Given the description of an element on the screen output the (x, y) to click on. 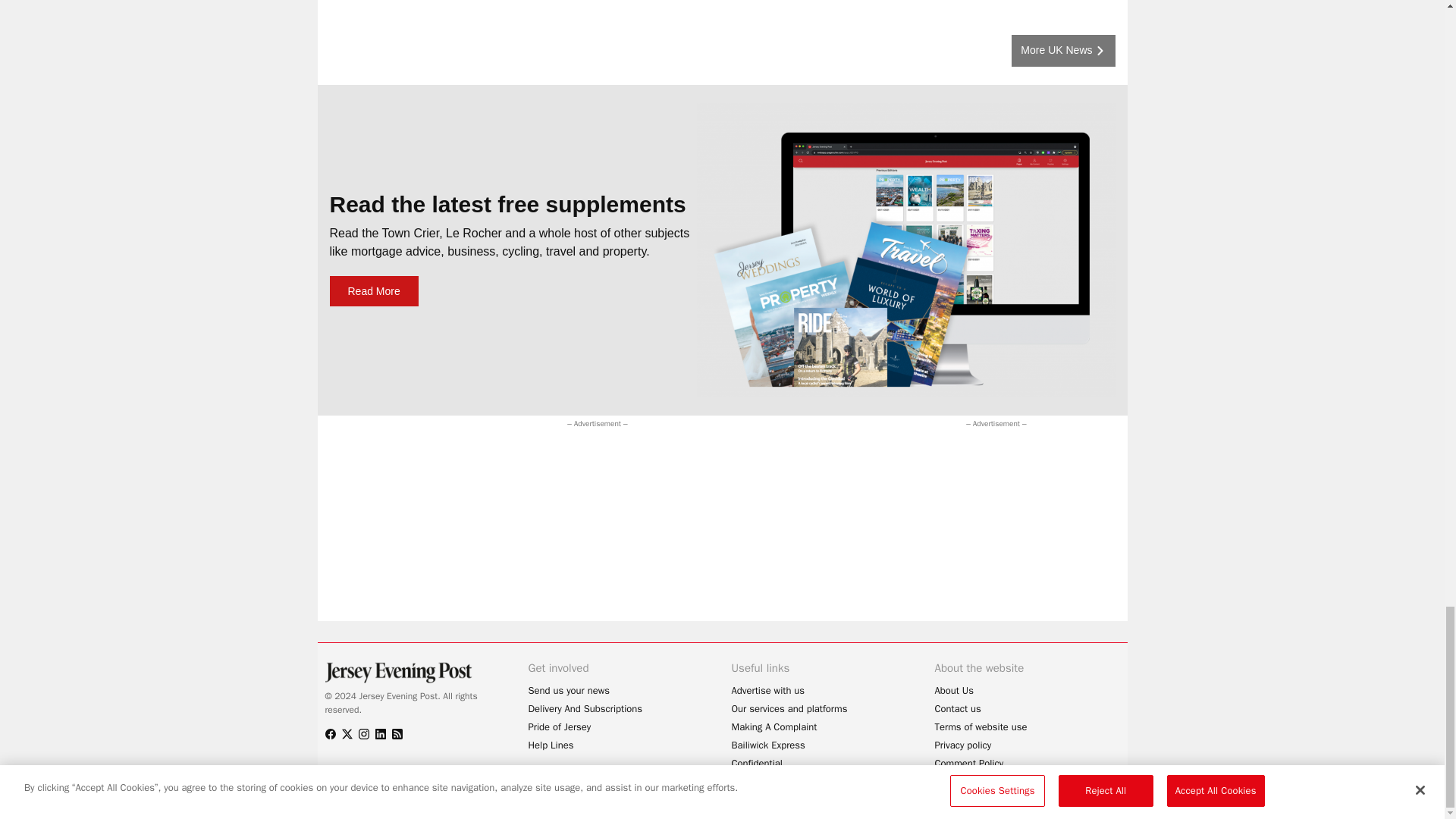
3rd party ad content (978, 525)
3rd party ad content (610, 465)
